Given the description of an element on the screen output the (x, y) to click on. 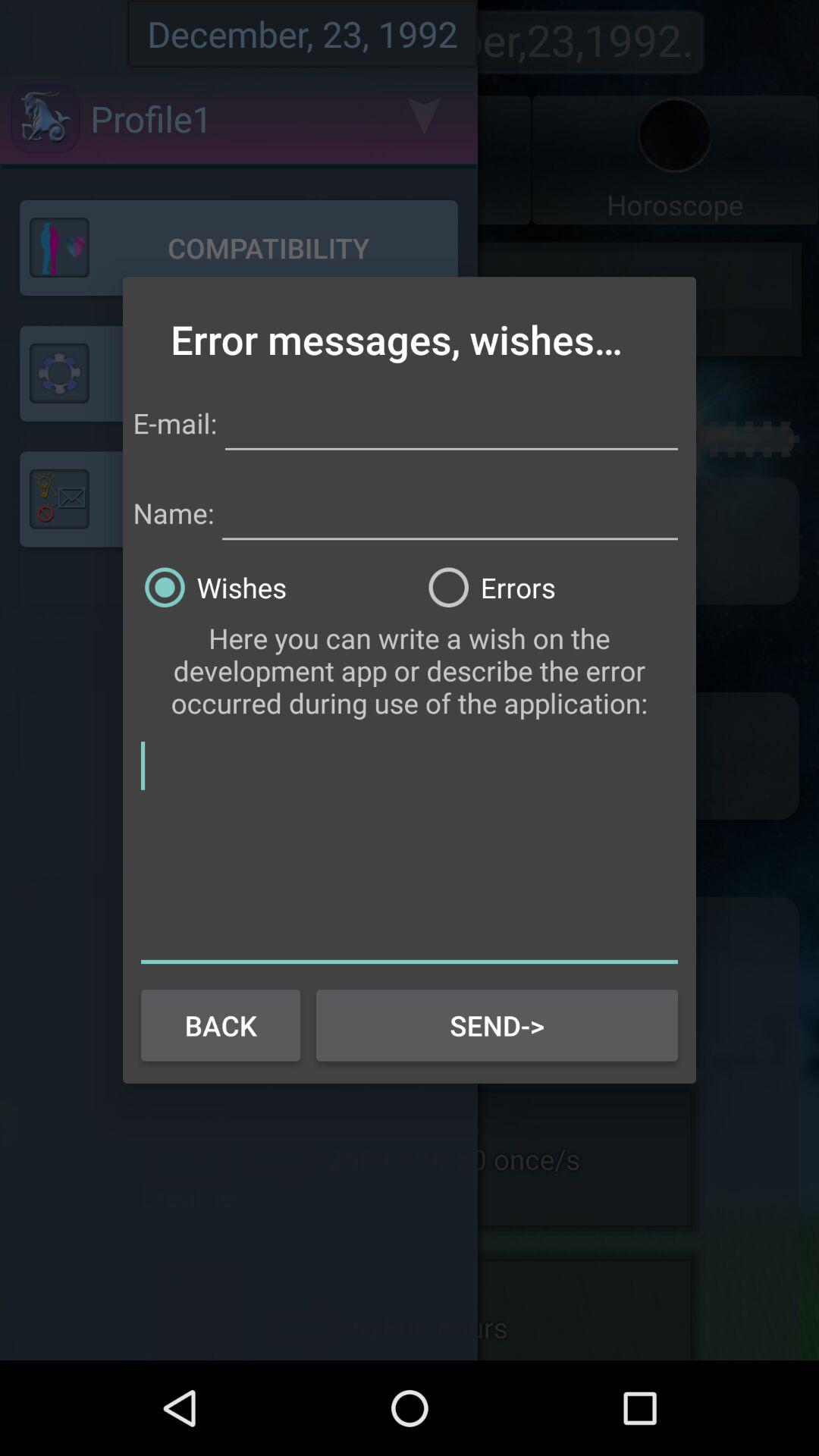
swipe until the send-> (496, 1025)
